Given the description of an element on the screen output the (x, y) to click on. 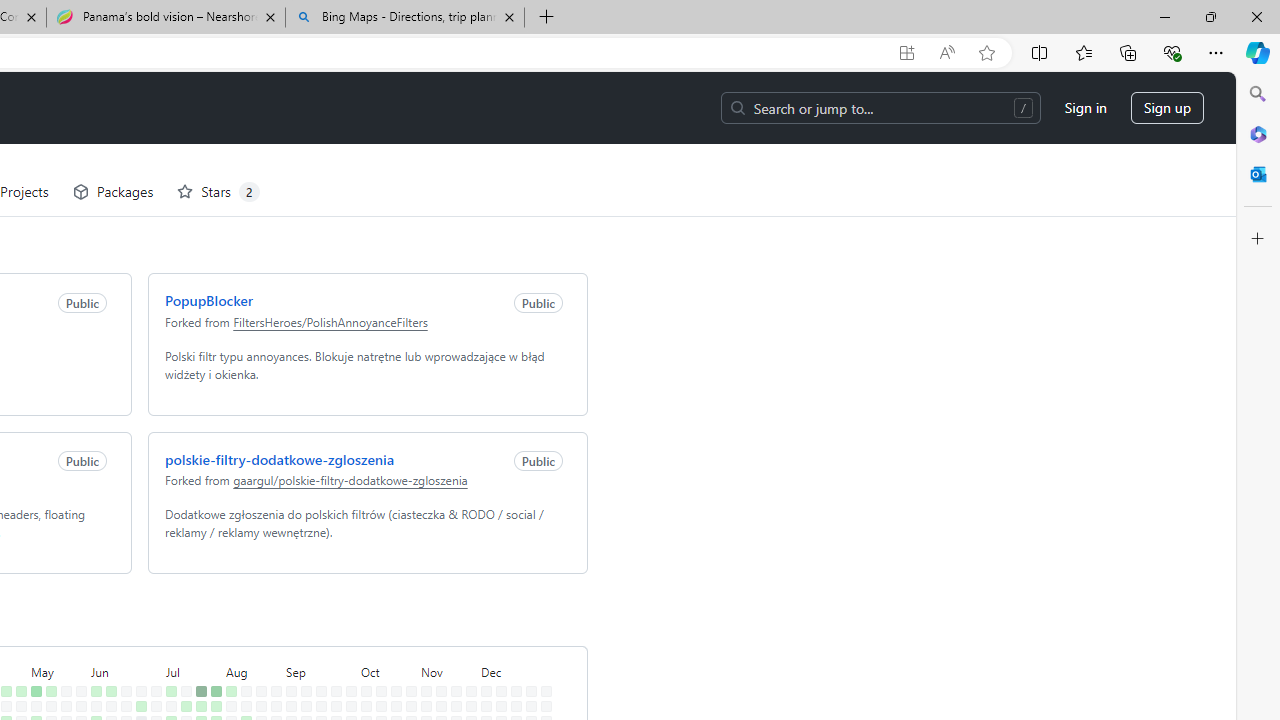
No contributions on August 28th. (272, 664)
No contributions on October 8th. (362, 649)
No contributions on August 7th. (226, 664)
No contributions on September 1st. (287, 619)
No contributions on November 11th. (437, 634)
No contributions on September 25th. (331, 664)
No contributions on October 1st. (347, 649)
1 contribution on July 31st. (212, 664)
No contributions on September 4th. (287, 664)
No contributions on September 15th. (317, 619)
No contributions on August 9th. (226, 694)
2 contributions on July 3rd. (152, 664)
No contributions on December 9th. (497, 634)
Sign up (1163, 35)
